Given the description of an element on the screen output the (x, y) to click on. 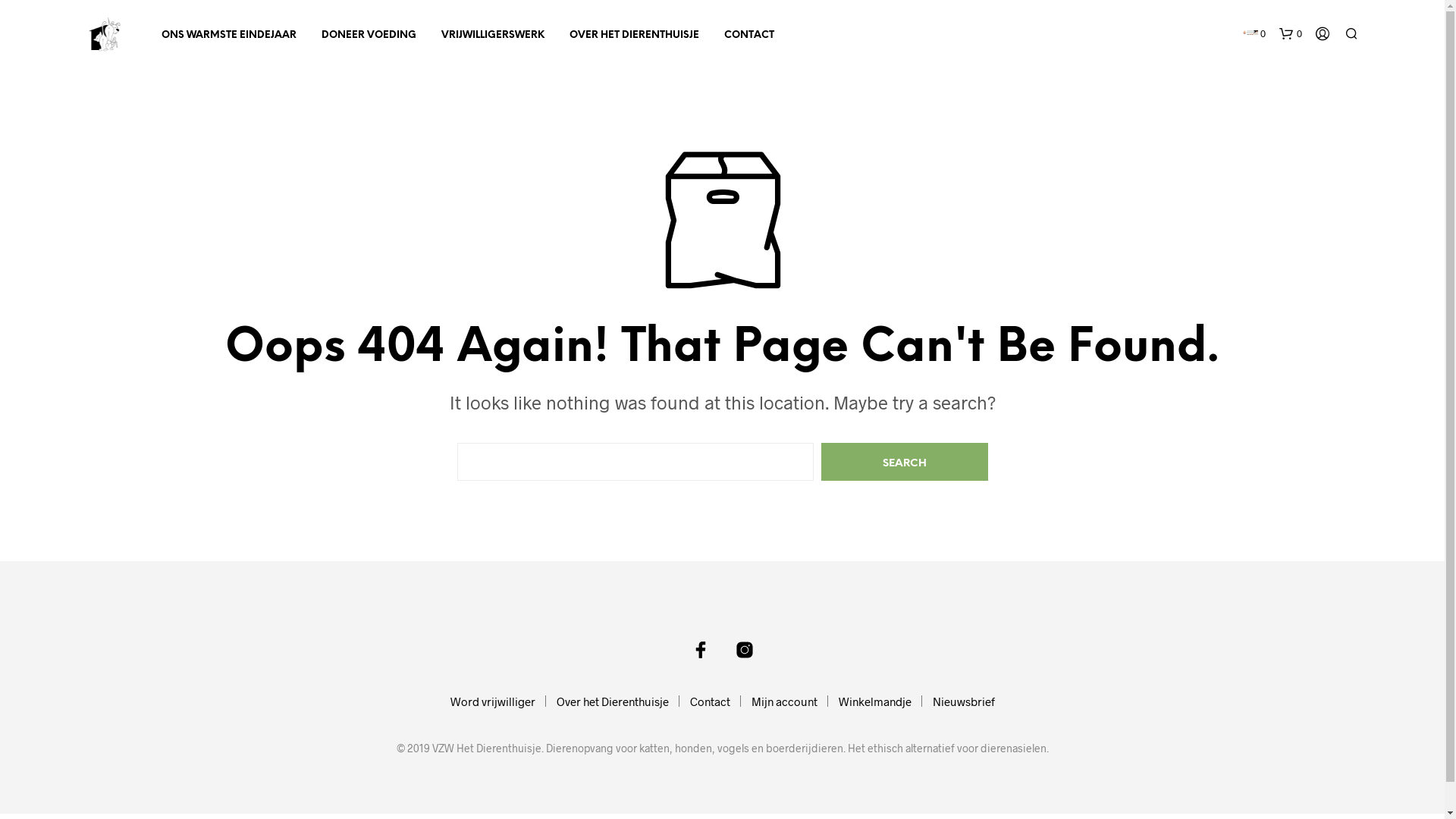
Over het Dierenthuisje Element type: text (612, 701)
Winkelmandje Element type: text (874, 701)
Search Element type: text (903, 461)
Nieuwsbrief Element type: text (963, 701)
VRIJWILLIGERSWERK Element type: text (492, 35)
DONEER VOEDING Element type: text (367, 35)
Contact Element type: text (710, 701)
OVER HET DIERENTHUISJE Element type: text (634, 35)
Word vrijwilliger Element type: text (492, 701)
0 Element type: text (1253, 33)
0 Element type: text (1289, 33)
Mijn account Element type: text (783, 701)
CONTACT Element type: text (748, 35)
ONS WARMSTE EINDEJAAR Element type: text (228, 35)
